Given the description of an element on the screen output the (x, y) to click on. 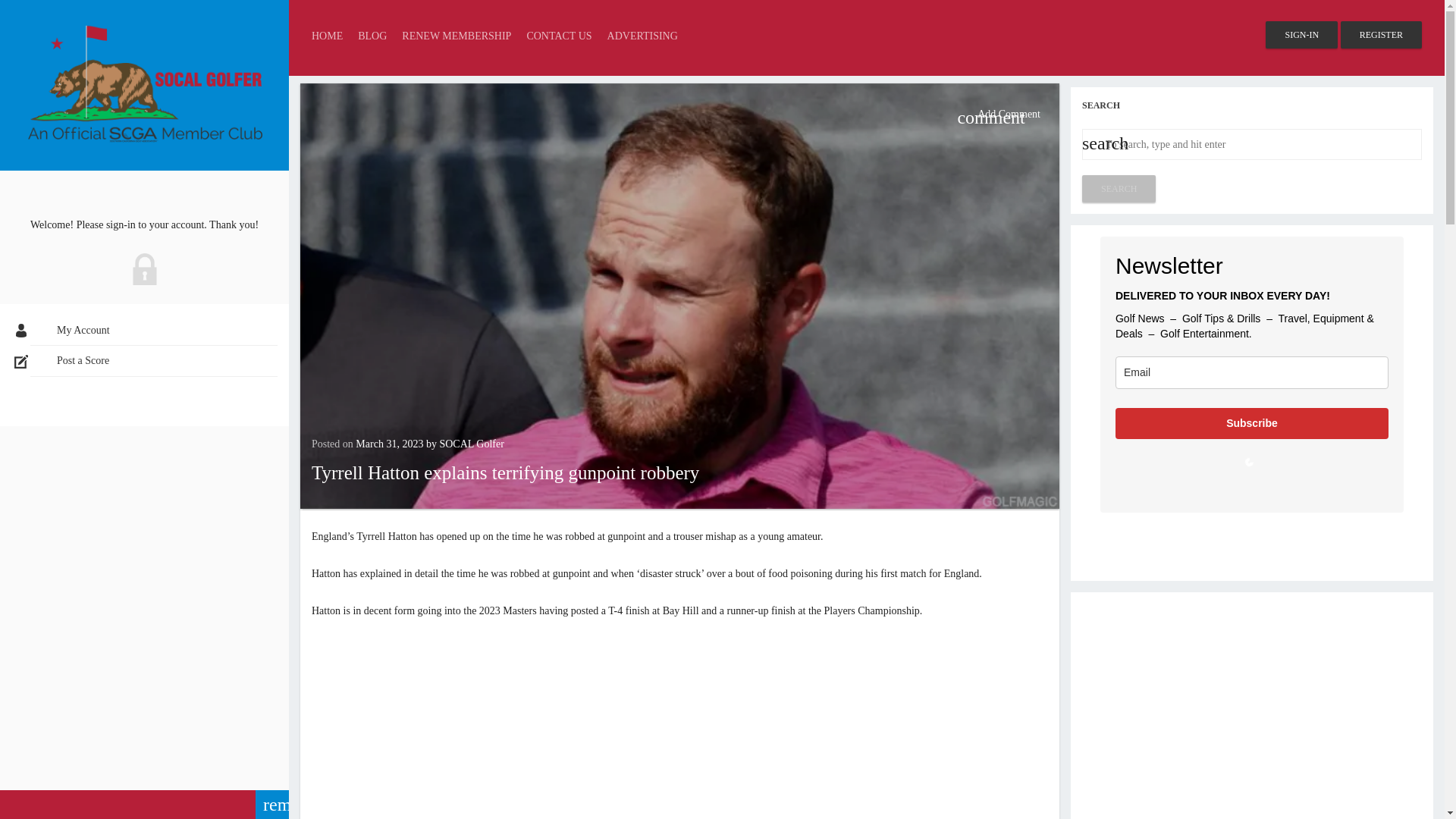
Sign-in to your account (1301, 34)
SIGN-IN (1301, 34)
Search (1118, 188)
SOCAL Golfer (471, 443)
Advertisement (1251, 709)
CONTACT US (558, 35)
BLOG (372, 35)
Create account to get started (1381, 34)
Comments (998, 113)
REGISTER (1381, 34)
Post a Score (154, 360)
HOME (326, 35)
Search (1118, 188)
Toggle Sidebar (144, 804)
